Given the description of an element on the screen output the (x, y) to click on. 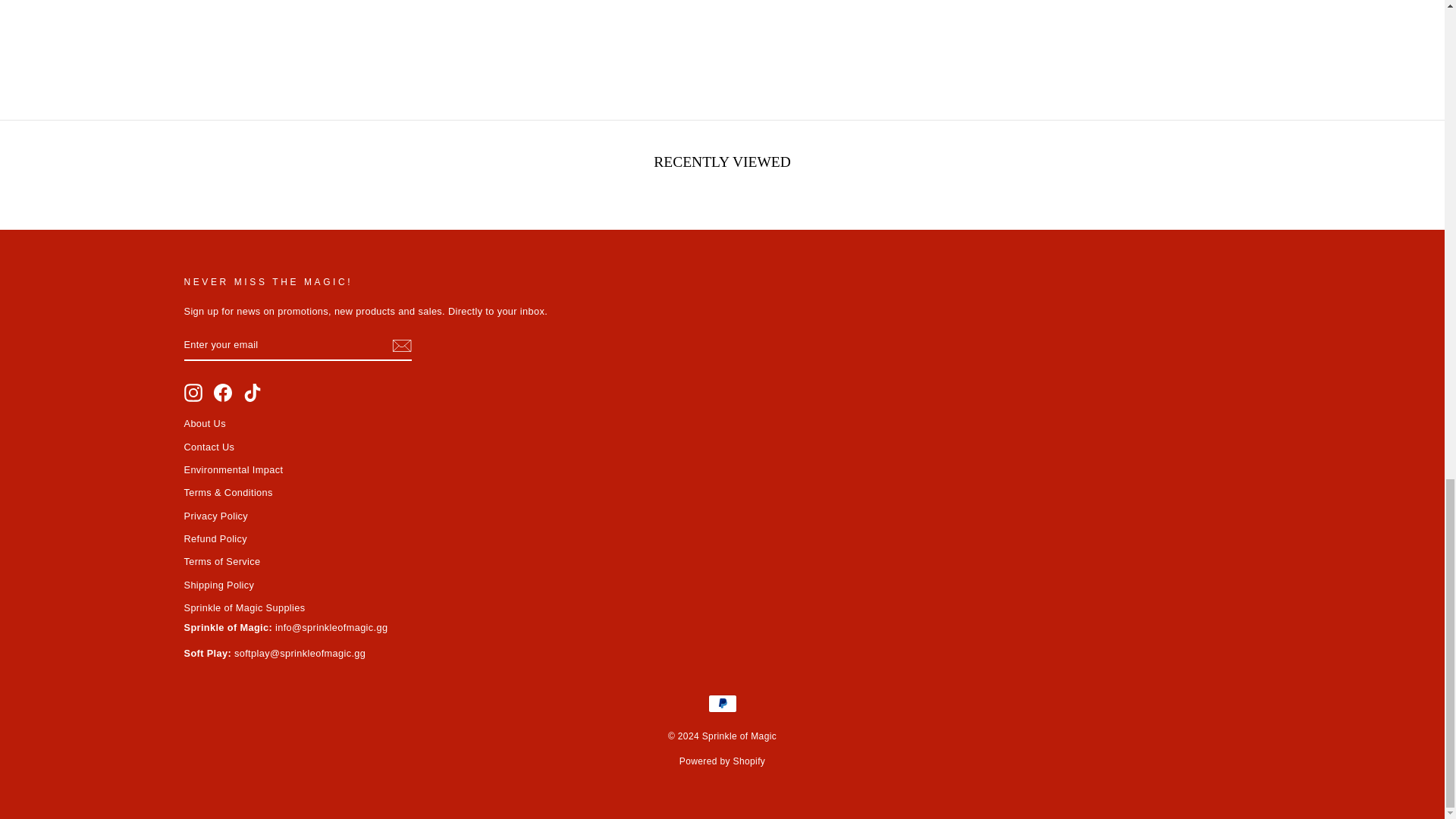
TikTok (251, 393)
Instagram (192, 393)
PayPal (721, 703)
About Us (204, 423)
Contact Us (208, 446)
Sprinkle of Magic on Instagram (192, 393)
Privacy Policy (215, 516)
Environmental Impact (232, 469)
Sprinkle of Magic on Facebook (222, 393)
Sprinkle of Magic on TikTok (251, 393)
